Given the description of an element on the screen output the (x, y) to click on. 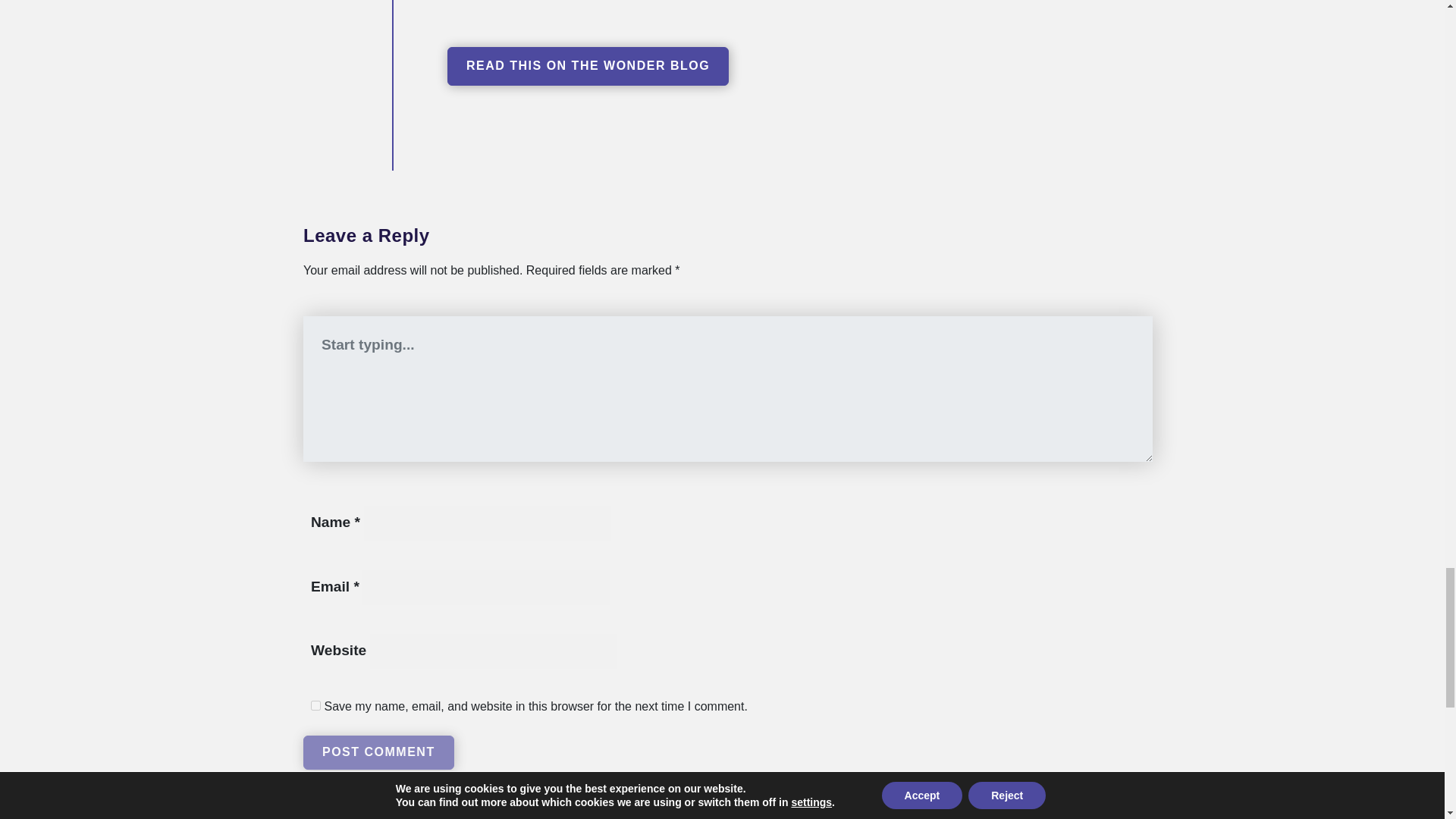
READ THIS ON THE WONDER BLOG (587, 66)
Post Comment (378, 752)
Post Comment (378, 752)
yes (315, 705)
